Given the description of an element on the screen output the (x, y) to click on. 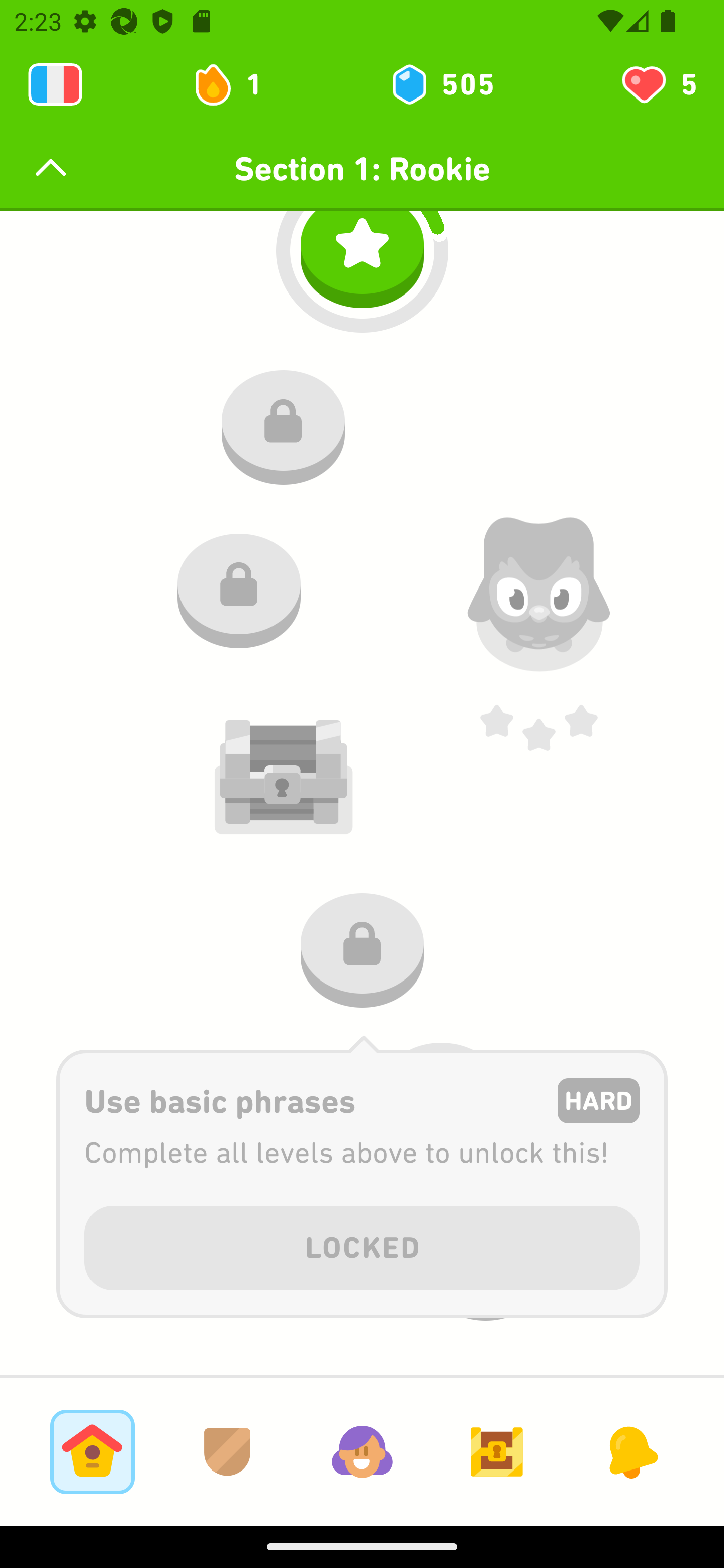
Learning 2131888976 (55, 84)
1 day streak 1 (236, 84)
505 (441, 84)
You have 5 hearts left 5 (657, 84)
Section 1: Rookie (362, 169)
LOCKED (361, 1243)
Learn Tab (91, 1451)
Leagues Tab (227, 1451)
Profile Tab (361, 1451)
Goals Tab (496, 1451)
News Tab (631, 1451)
